Given the description of an element on the screen output the (x, y) to click on. 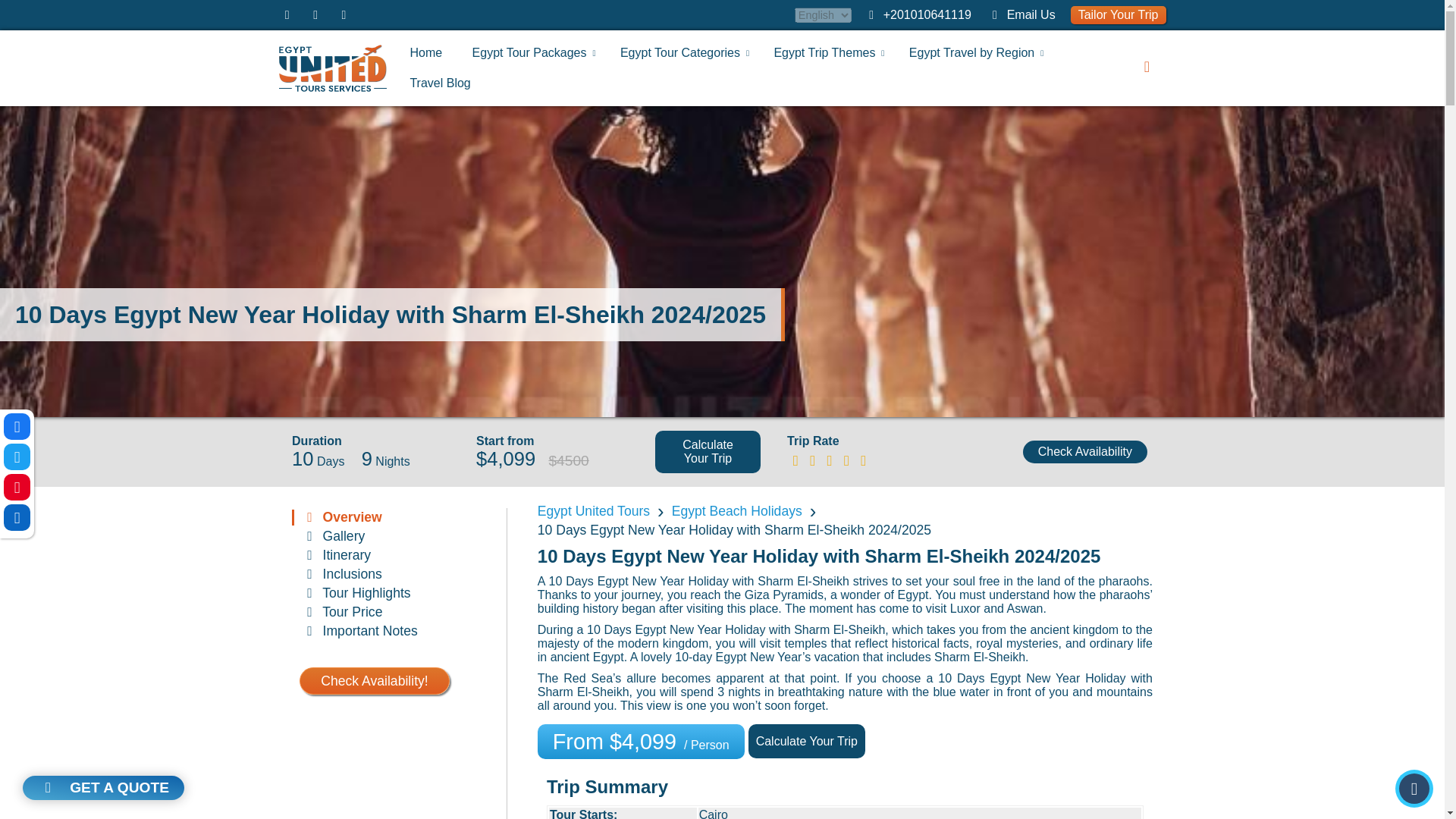
facebook (287, 14)
Email Us (1031, 14)
Share on twitter (17, 456)
Share on linkedin (17, 517)
Tailor Your Trip (1118, 14)
youtube (343, 14)
Home (425, 52)
Egypt Tour Packages (529, 52)
Share on Facebook (17, 426)
Share on pinterest (17, 487)
